Given the description of an element on the screen output the (x, y) to click on. 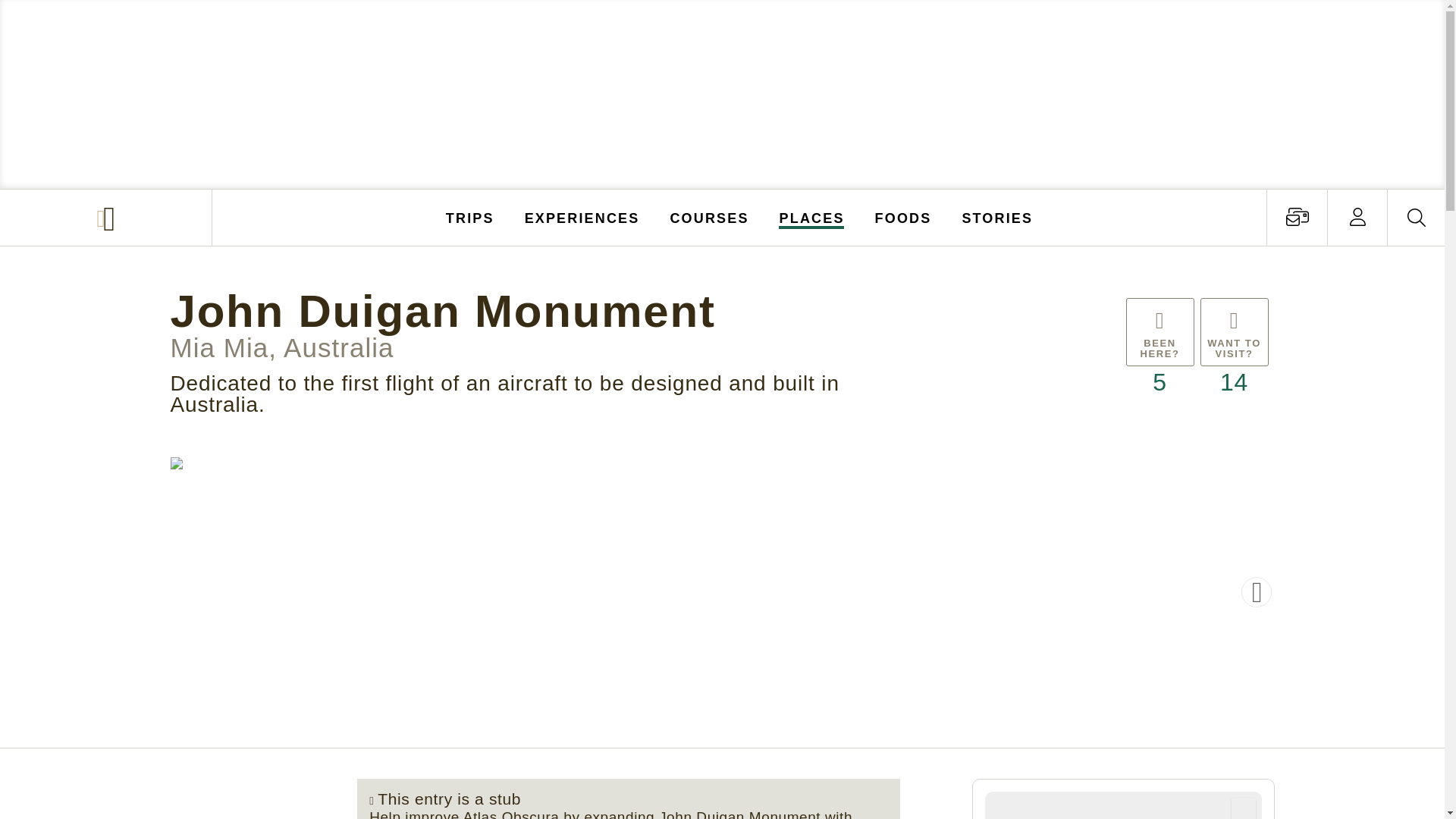
TRIPS (469, 217)
PLACES (812, 217)
EXPERIENCES (582, 217)
COURSES (707, 217)
